Given the description of an element on the screen output the (x, y) to click on. 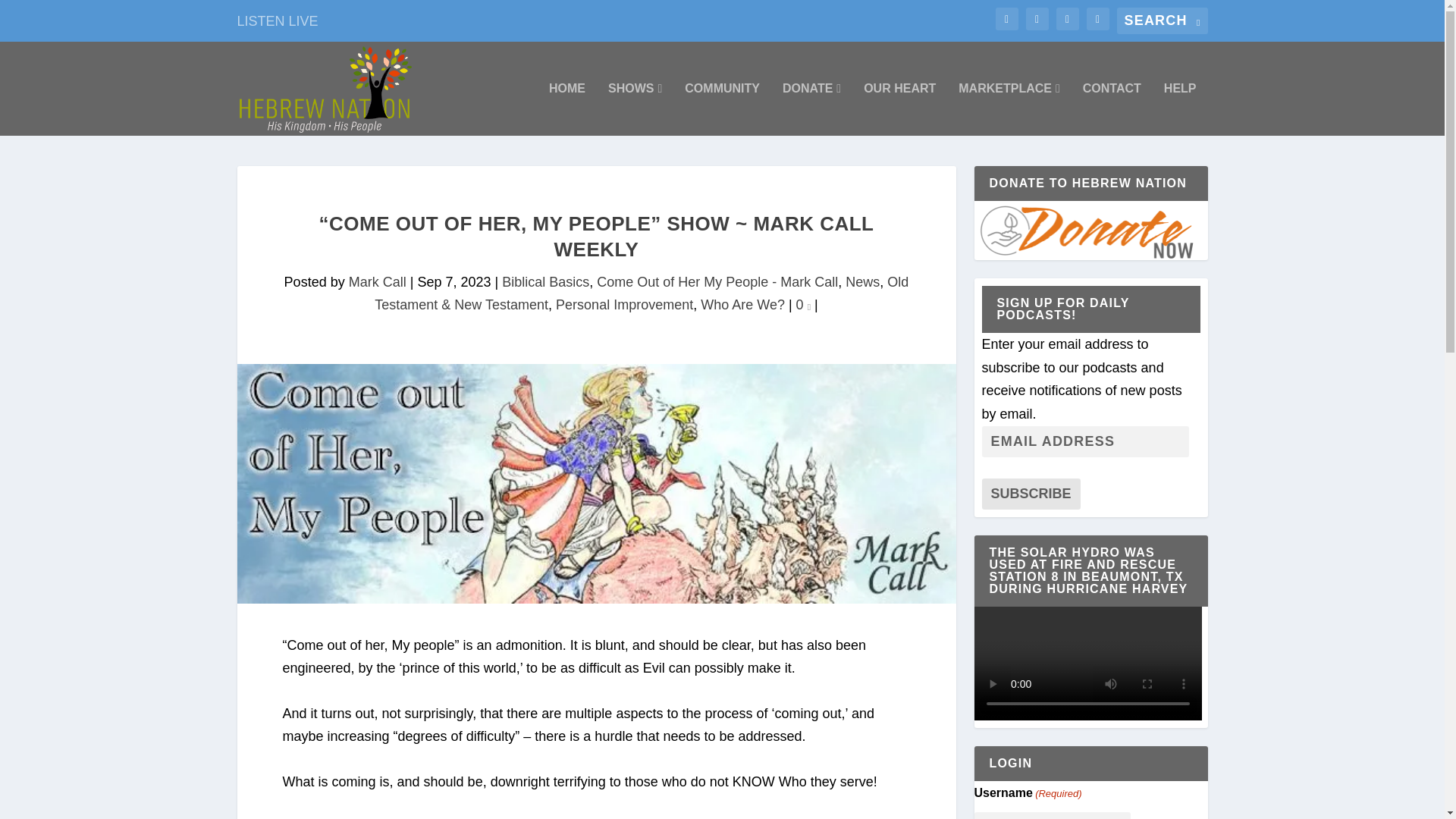
DONATE (812, 108)
SHOWS (635, 108)
MARKETPLACE (1008, 108)
Mark Call (377, 281)
COMMUNITY (722, 108)
CONTACT (1112, 108)
Search for: (1161, 20)
OUR HEART (899, 108)
Posts by Mark Call (377, 281)
LISTEN LIVE (276, 20)
